Given the description of an element on the screen output the (x, y) to click on. 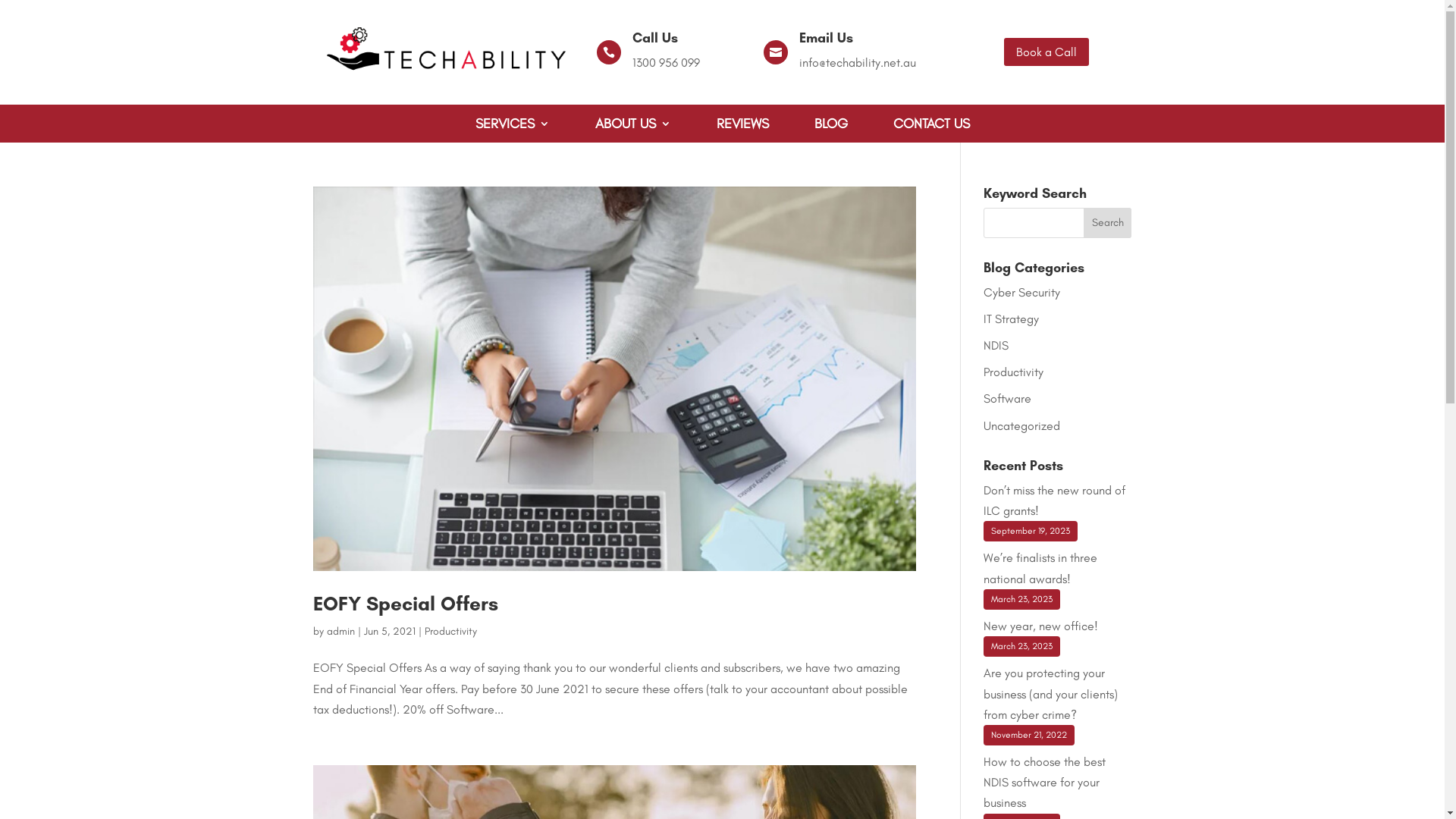
new-logo Element type: hover (444, 52)
Cyber Security Element type: text (1021, 292)
Book a Call Element type: text (1046, 51)
BLOG Element type: text (830, 126)
ABOUT US Element type: text (632, 126)
New year, new office! Element type: text (1040, 625)
EOFY Special Offers Element type: text (404, 603)
NDIS Element type: text (995, 345)
Uncategorized Element type: text (1021, 425)
Productivity Element type: text (1013, 371)
IT Strategy Element type: text (1010, 318)
SERVICES Element type: text (511, 126)
Software Element type: text (1007, 398)
CONTACT US Element type: text (931, 126)
Search Element type: text (1107, 222)
REVIEWS Element type: text (741, 126)
Email Us Element type: text (826, 37)
Productivity Element type: text (450, 630)
How to choose the best NDIS software for your business Element type: text (1044, 781)
admin Element type: text (340, 630)
